Given the description of an element on the screen output the (x, y) to click on. 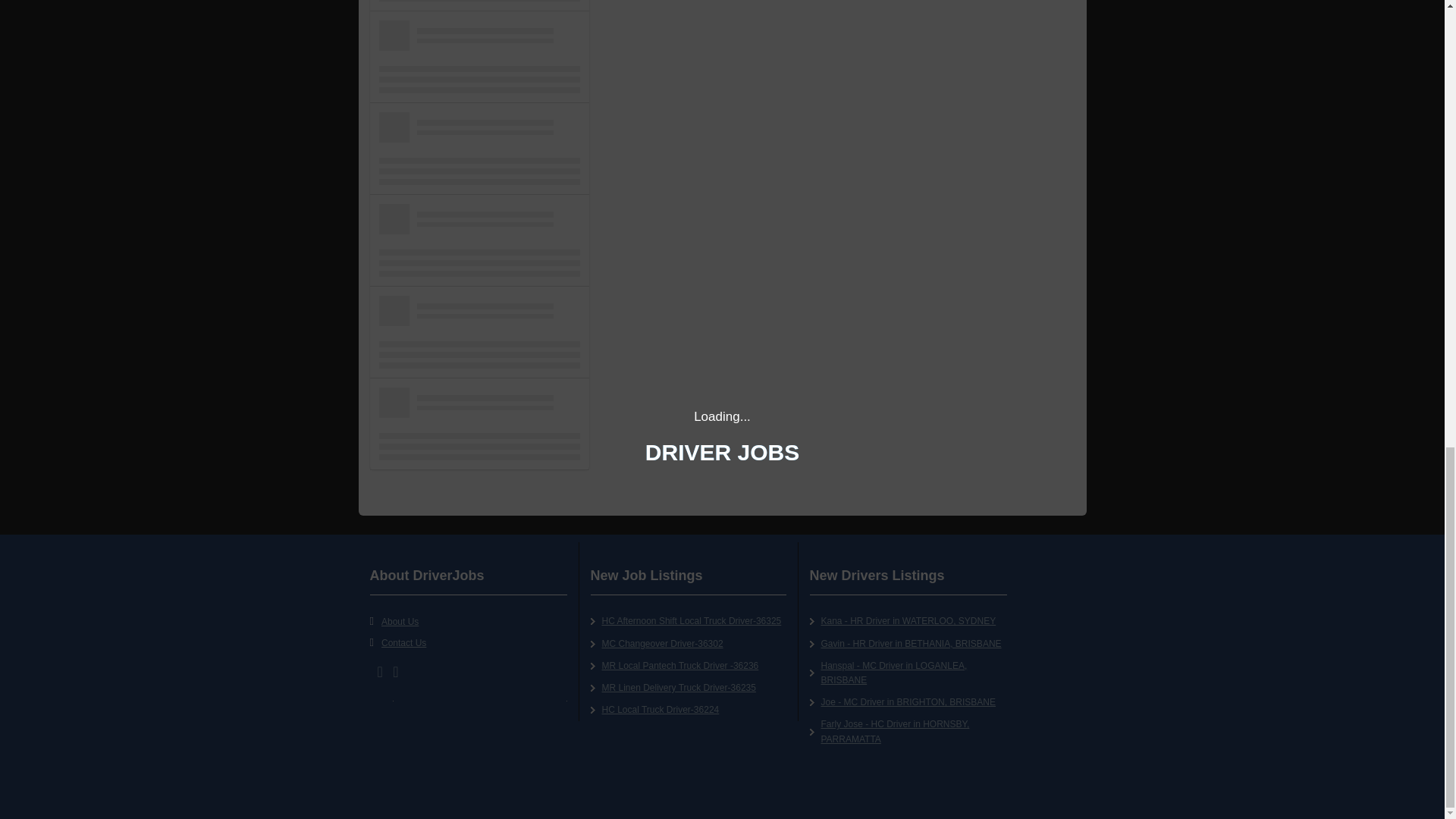
MR Local Pantech Truck Driver -36236 (680, 665)
HC Afternoon Shift Local Truck Driver-36325 (691, 620)
MR Linen Delivery Truck Driver-36235 (678, 687)
MC Changeover Driver-36302 (662, 643)
HC Local Truck Driver-36224 (660, 709)
